Given the description of an element on the screen output the (x, y) to click on. 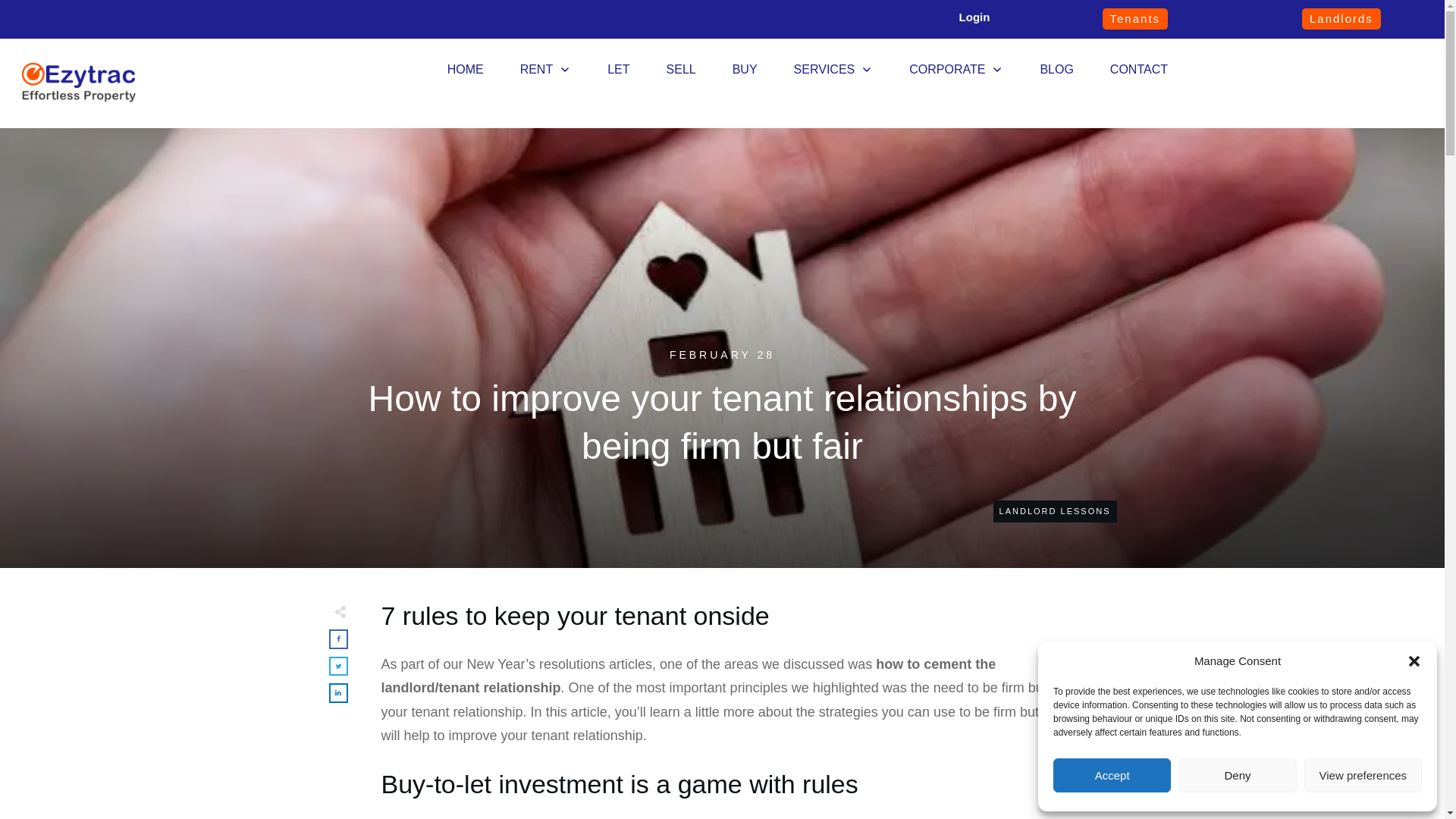
Deny (1236, 775)
LET (617, 69)
View preferences (1363, 775)
BUY (744, 69)
Landlord lessons (1054, 510)
Landlords (1340, 18)
SERVICES (833, 69)
SELL (680, 69)
RENT (545, 69)
Tenants (1135, 18)
Accept (1111, 775)
Login (974, 16)
HOME (464, 69)
